Given the description of an element on the screen output the (x, y) to click on. 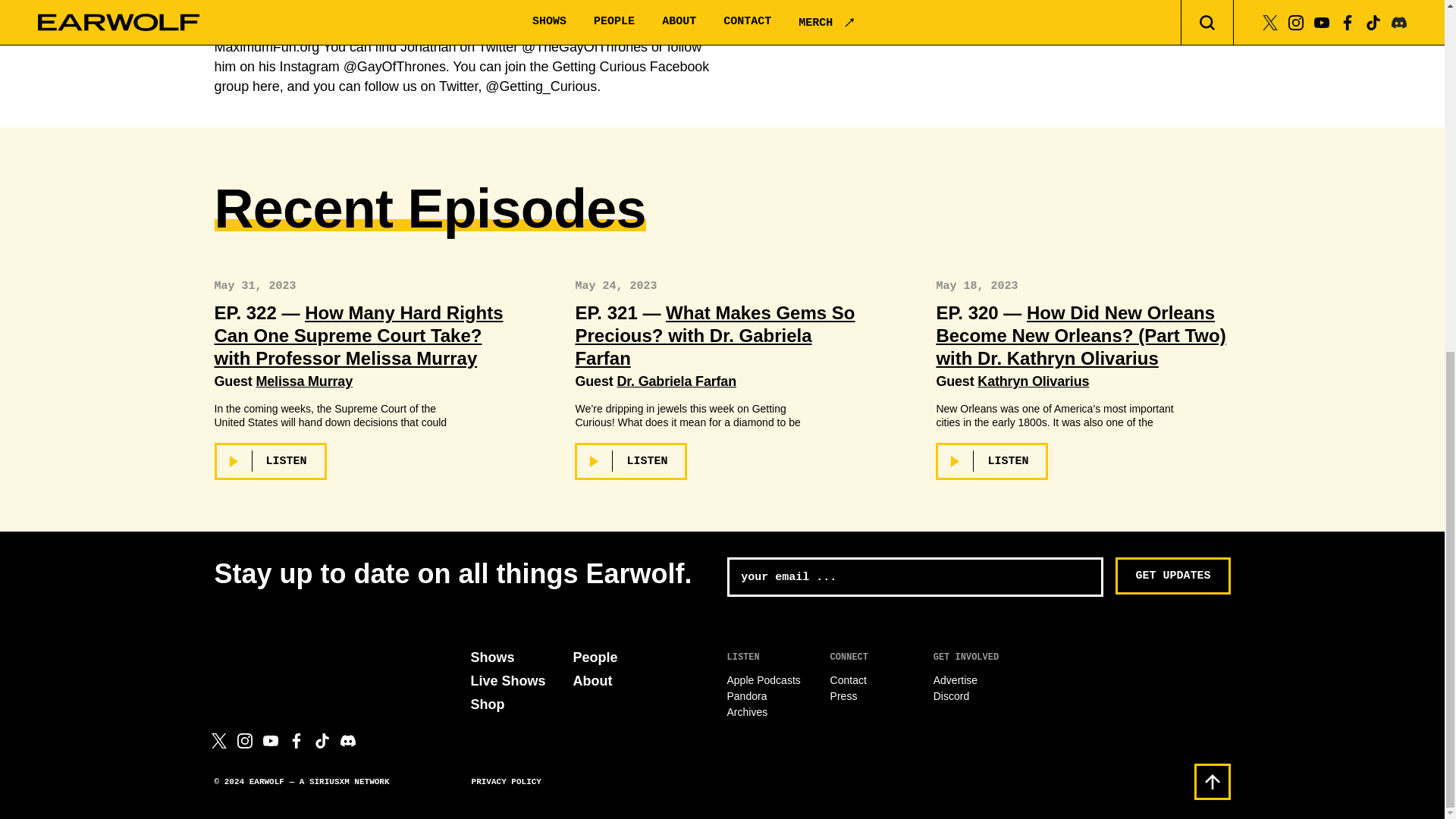
What Makes Gems So Precious? with Dr. Gabriela Farfan (714, 335)
Melissa Murray (304, 381)
Get Updates (1172, 575)
Earwolf (283, 658)
LISTEN (270, 461)
